Given the description of an element on the screen output the (x, y) to click on. 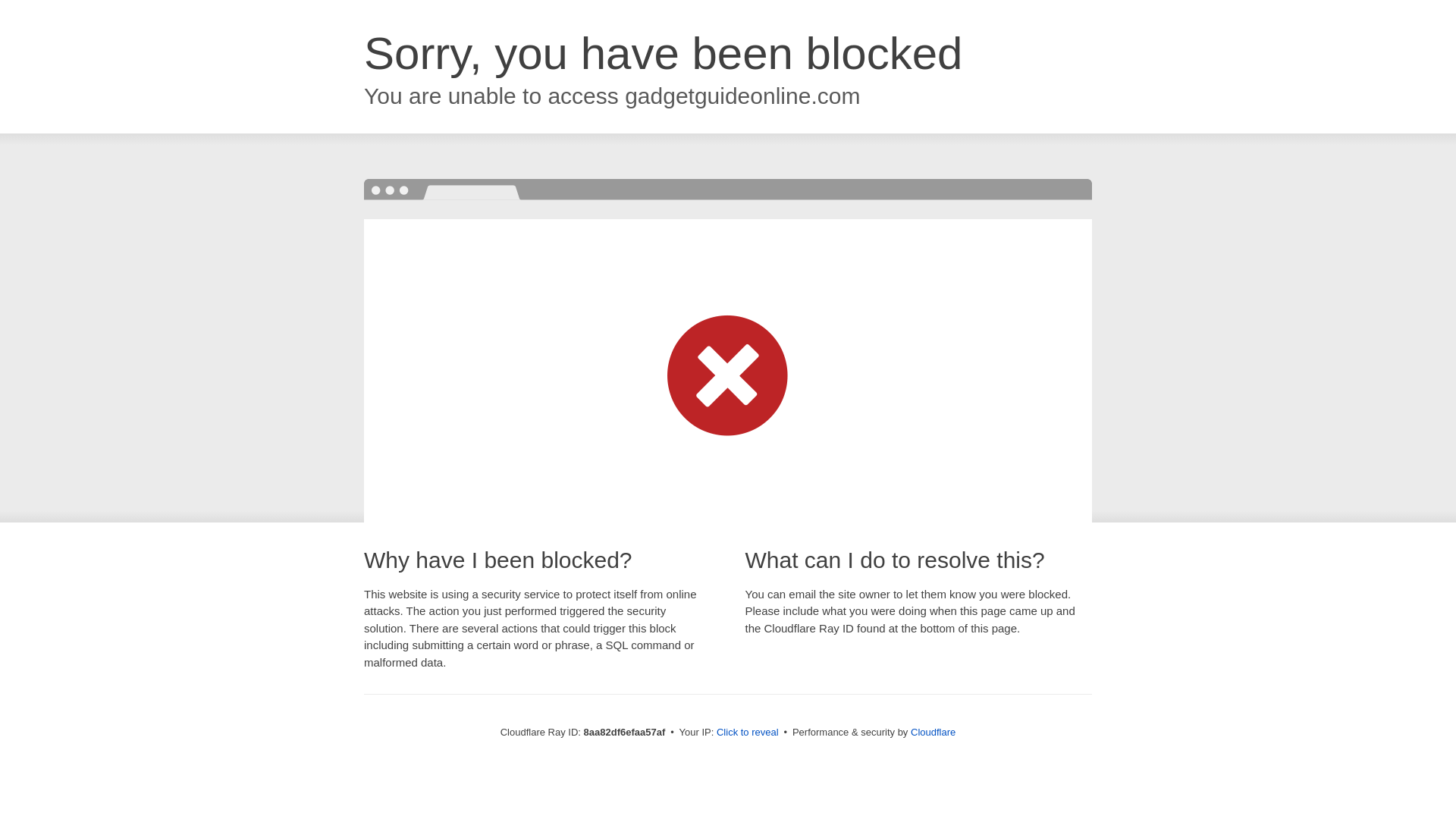
Click to reveal (747, 732)
Cloudflare (933, 731)
